Given the description of an element on the screen output the (x, y) to click on. 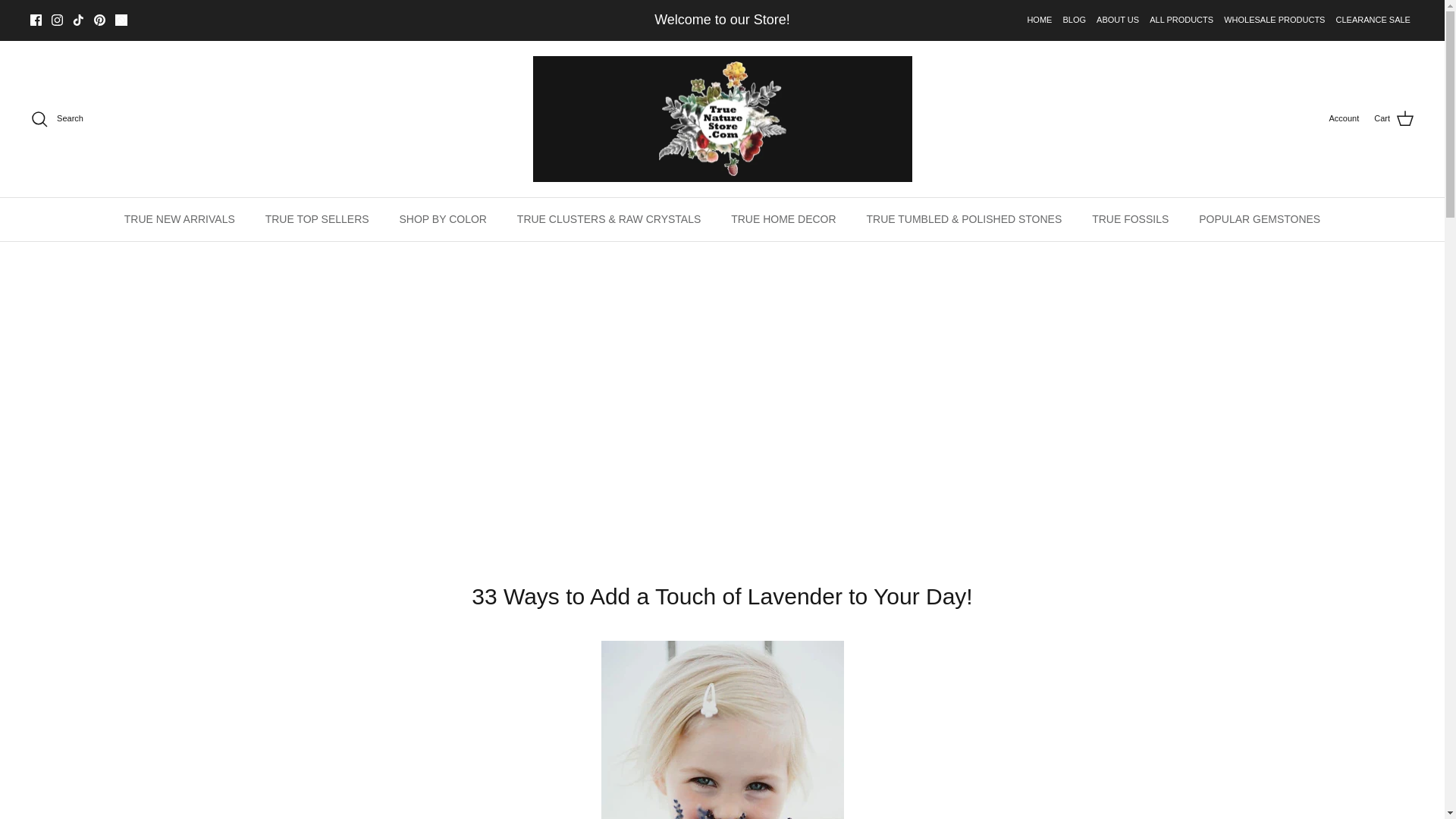
TRUE NEW ARRIVALS (179, 219)
TRUE TOP SELLERS (316, 219)
Instagram (56, 19)
Instagram (56, 19)
Facebook (36, 19)
WHOLESALE PRODUCTS (1274, 19)
HOME (1038, 19)
CLEARANCE SALE (1373, 19)
Pinterest (99, 19)
ABOUT US (1117, 19)
